Given the description of an element on the screen output the (x, y) to click on. 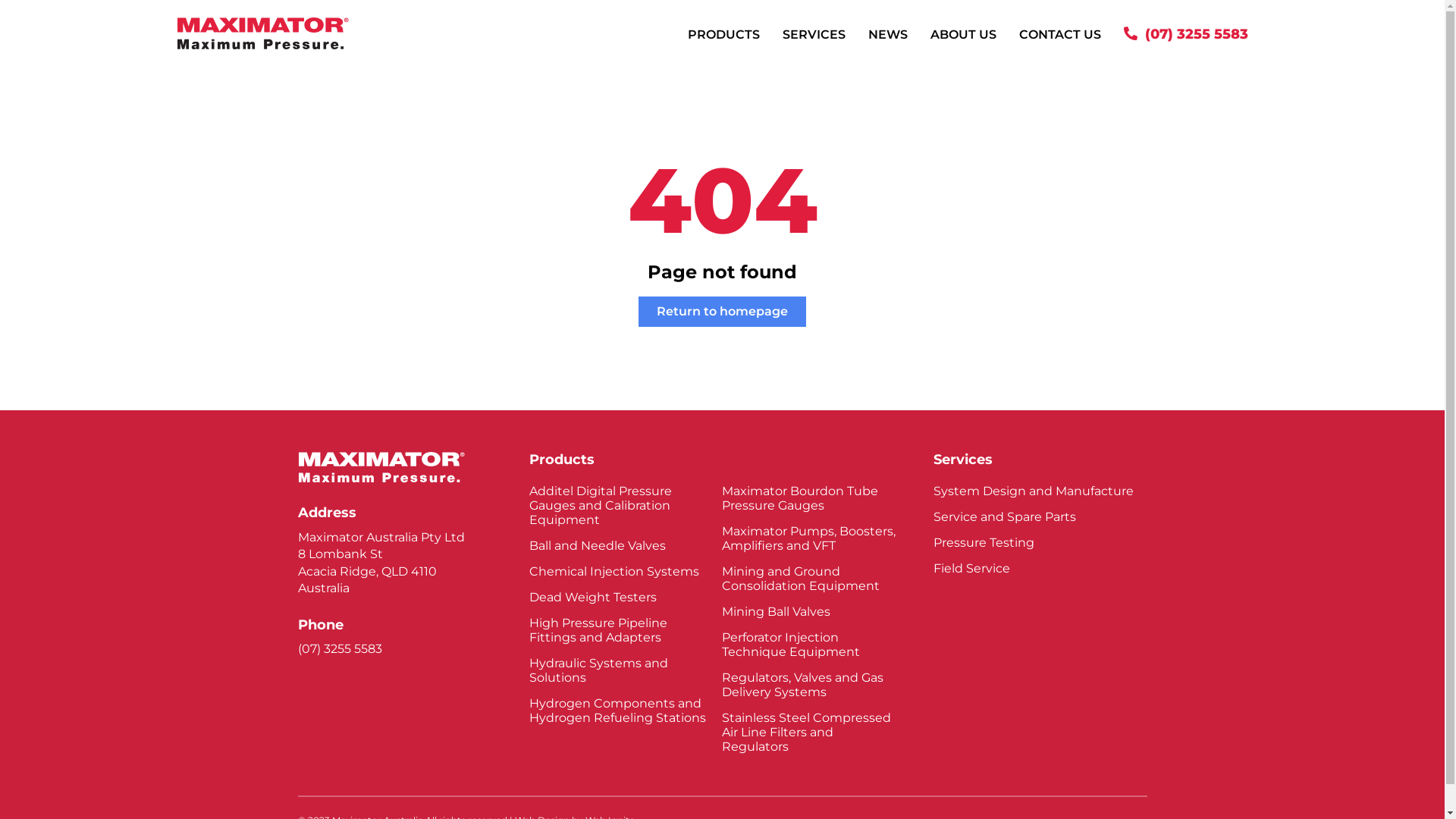
Maximator Pumps, Boosters, Amplifiers and VFT Element type: text (812, 538)
Regulators, Valves and Gas Delivery Systems Element type: text (812, 684)
(07) 3255 5583 Element type: text (339, 649)
ABOUT US Element type: text (963, 34)
Field Service Element type: text (1039, 568)
Mining Ball Valves Element type: text (812, 611)
Hydrogen Components and Hydrogen Refueling Stations Element type: text (619, 710)
PRODUCTS Element type: text (723, 34)
Mining and Ground Consolidation Equipment Element type: text (812, 578)
Maximator Bourdon Tube Pressure Gauges Element type: text (812, 497)
CONTACT US Element type: text (1059, 34)
Service and Spare Parts Element type: text (1039, 516)
Perforator Injection Technique Equipment Element type: text (812, 644)
NEWS Element type: text (887, 34)
Dead Weight Testers Element type: text (619, 596)
Ball and Needle Valves Element type: text (619, 545)
High Pressure Pipeline Fittings and Adapters Element type: text (619, 629)
(07) 3255 5583 Element type: text (1185, 34)
Chemical Injection Systems Element type: text (619, 571)
SERVICES Element type: text (814, 34)
Pressure Testing Element type: text (1039, 542)
System Design and Manufacture Element type: text (1039, 490)
Return to homepage Element type: text (722, 311)
Additel Digital Pressure Gauges and Calibration Equipment Element type: text (619, 505)
Stainless Steel Compressed Air Line Filters and Regulators Element type: text (812, 731)
Hydraulic Systems and Solutions Element type: text (619, 669)
